Given the description of an element on the screen output the (x, y) to click on. 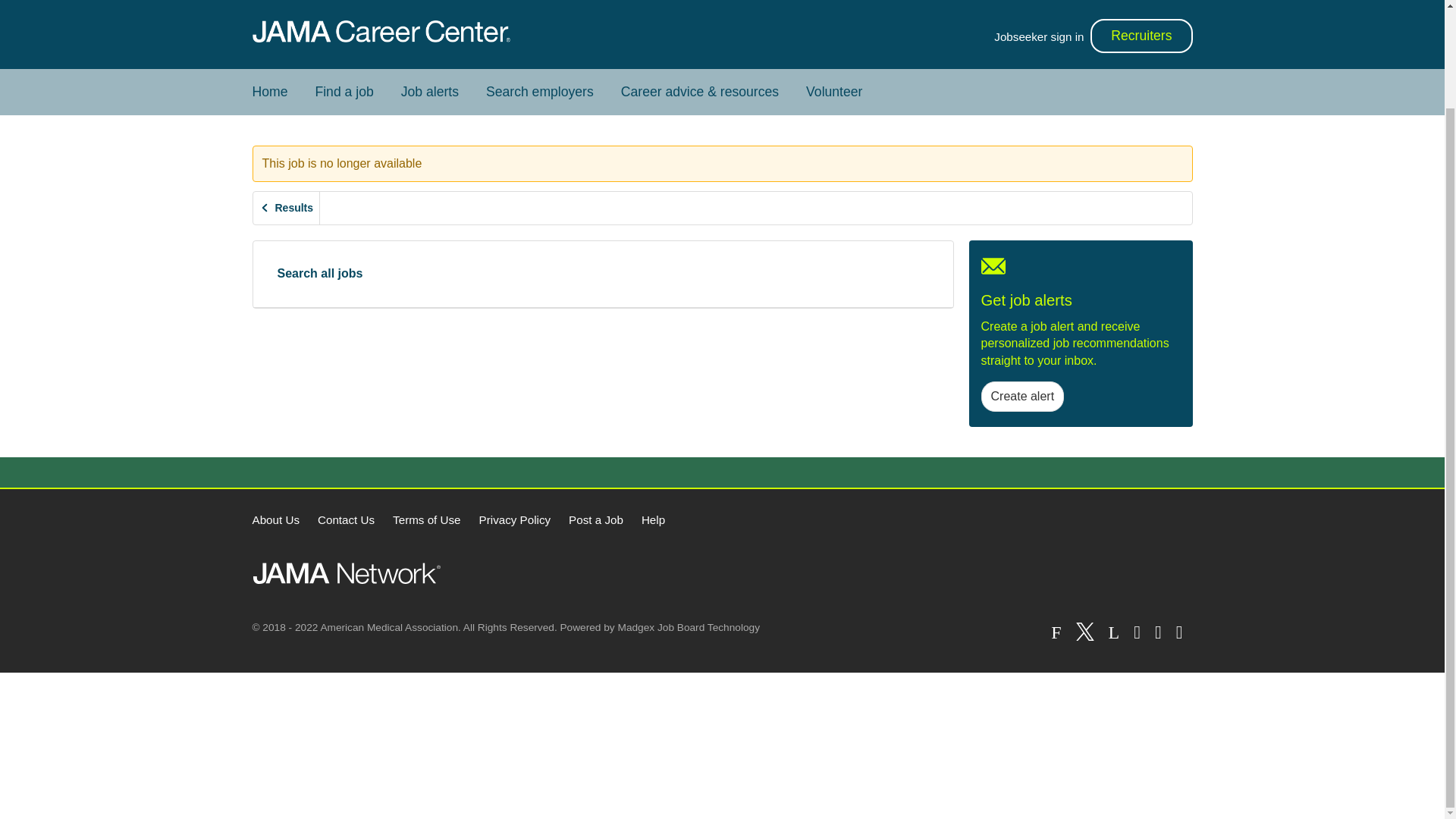
JAMA Network (346, 573)
JAMA Career Center (380, 31)
